Given the description of an element on the screen output the (x, y) to click on. 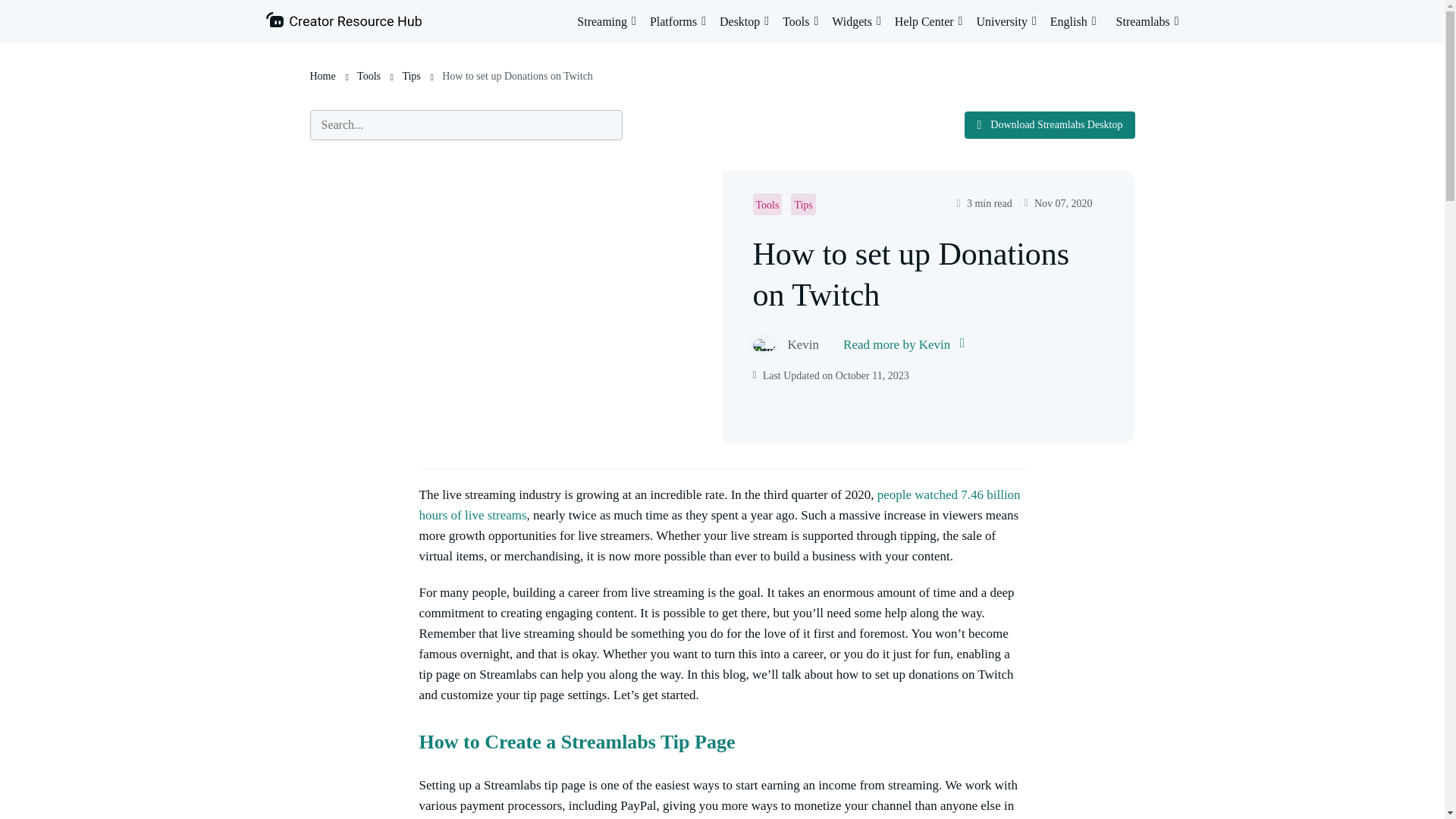
Desktop (743, 21)
Streaming (606, 21)
Read more by Kevin (903, 344)
Go to Streamlabs (1147, 21)
Platforms (677, 21)
Tools (800, 21)
